Given the description of an element on the screen output the (x, y) to click on. 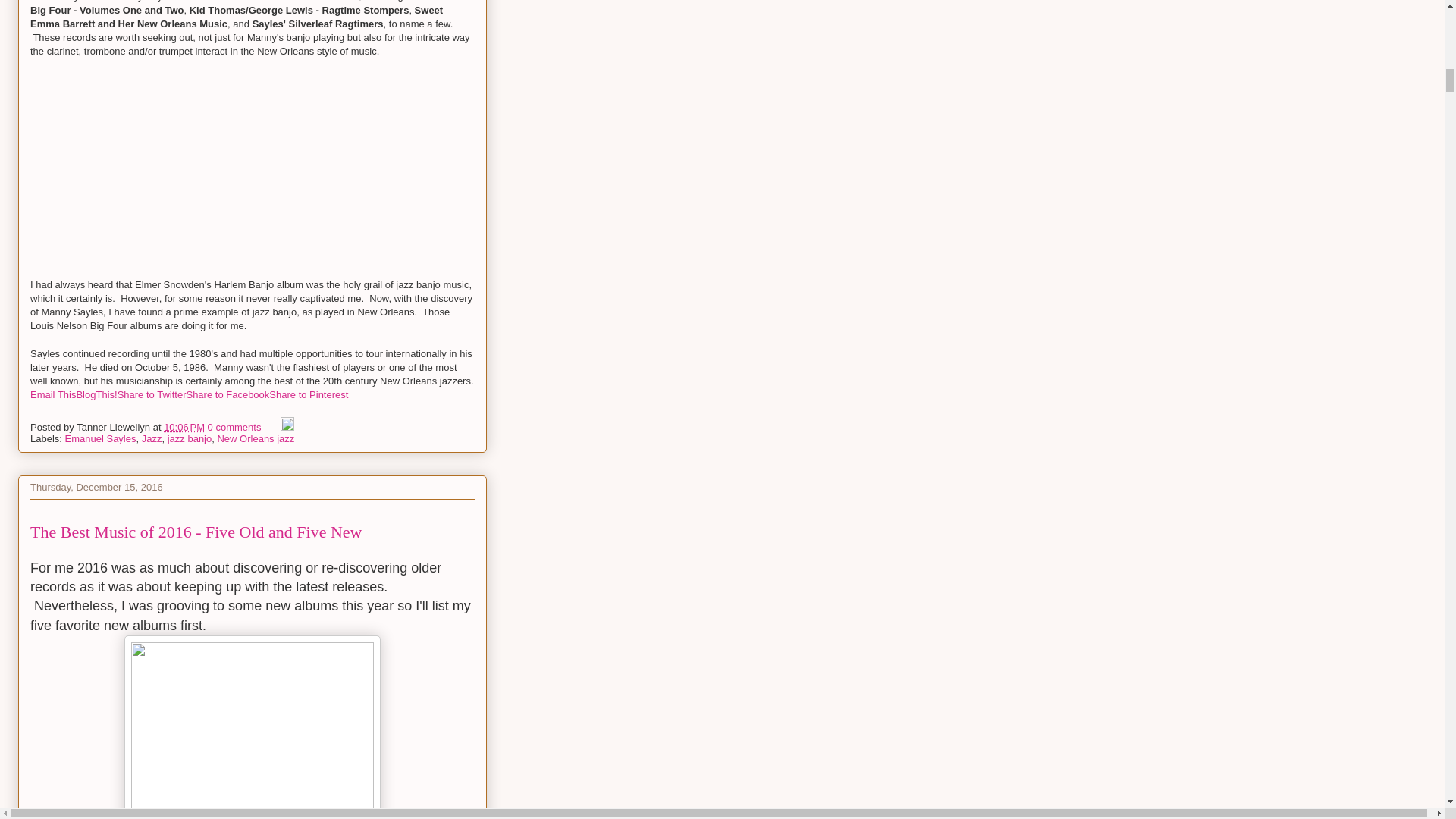
Share to Pinterest (308, 394)
Share to Facebook (227, 394)
Share to Twitter (151, 394)
Email This (52, 394)
BlogThis! (95, 394)
